Given the description of an element on the screen output the (x, y) to click on. 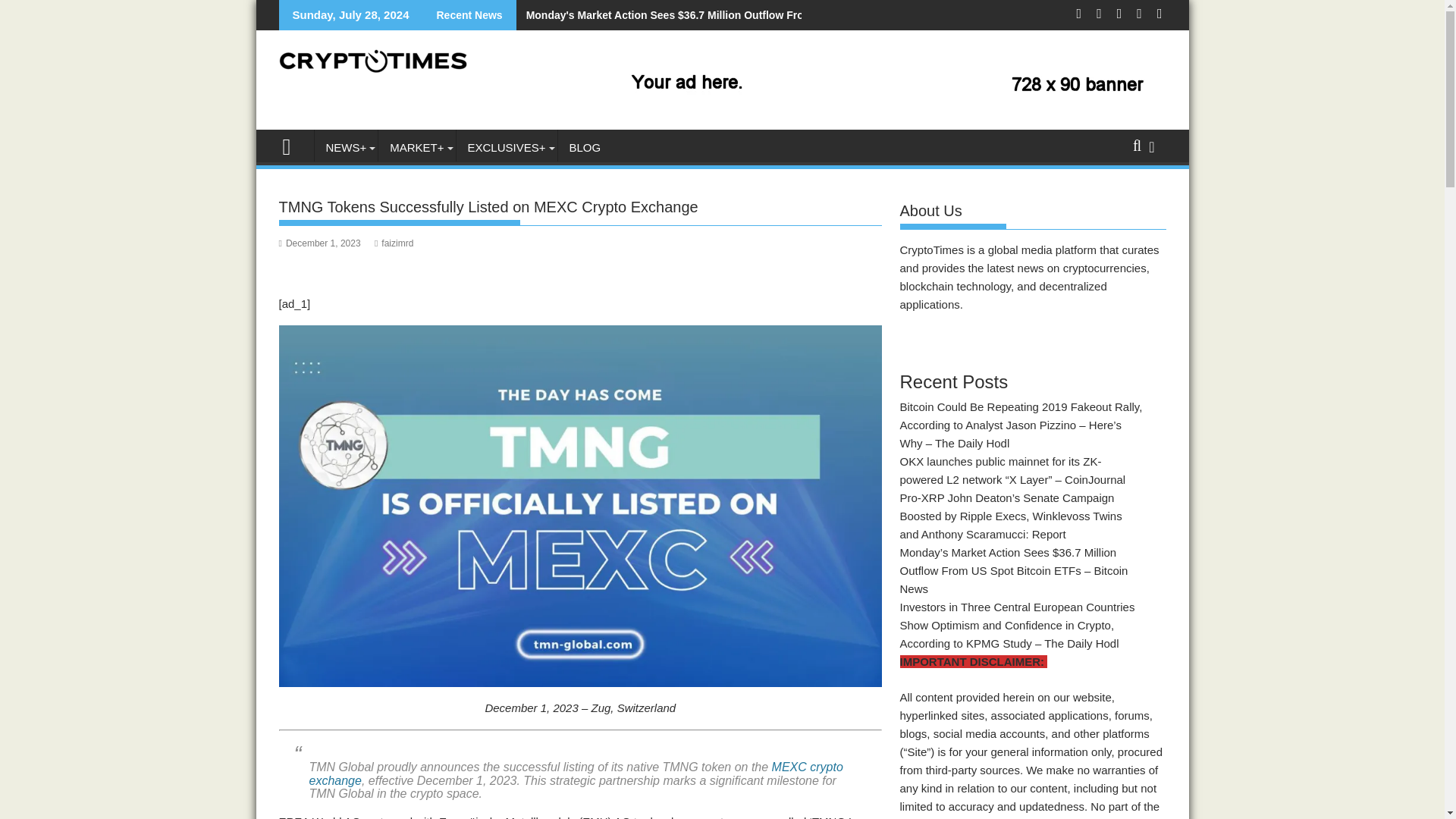
BLOG (584, 147)
